Given the description of an element on the screen output the (x, y) to click on. 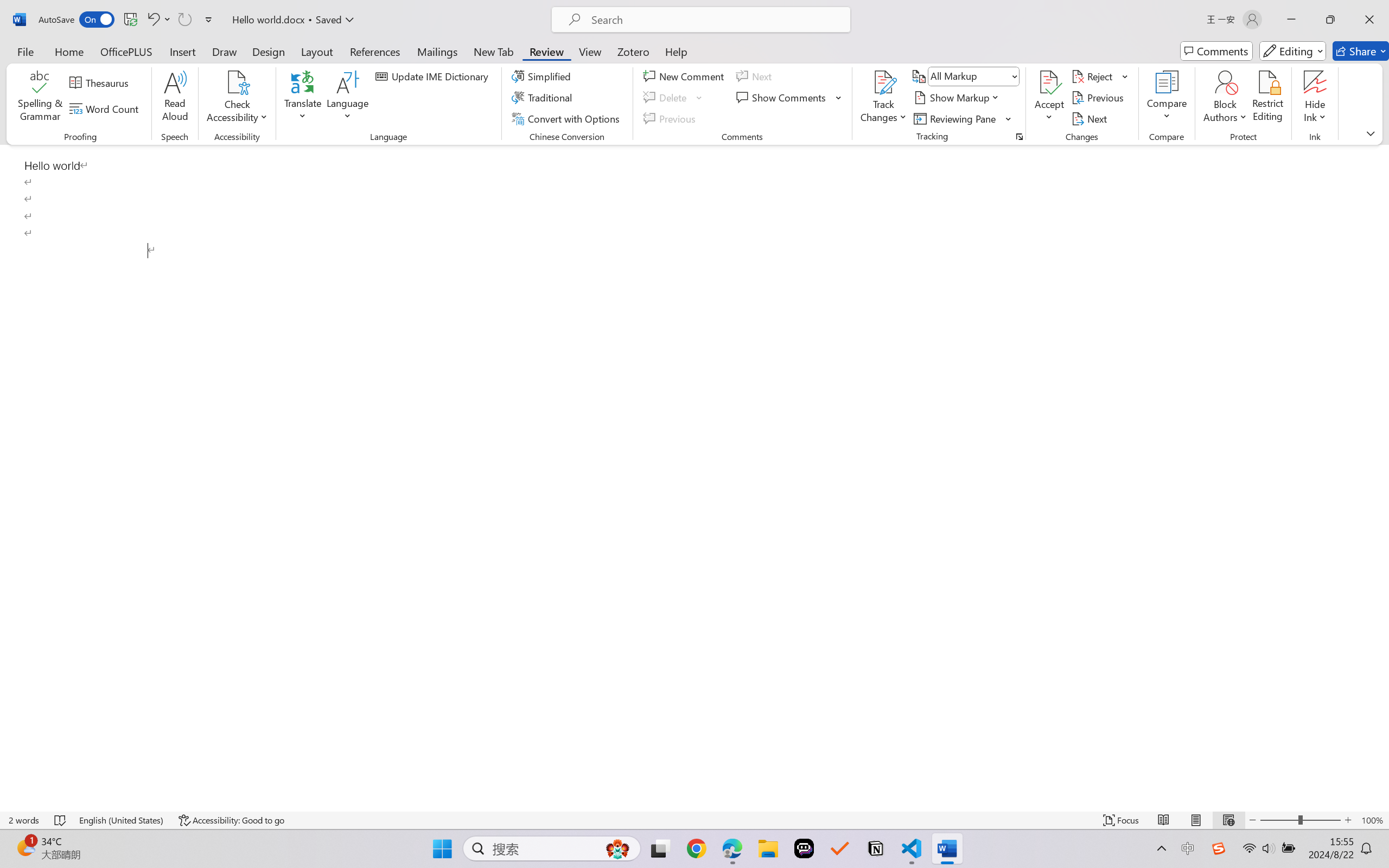
Traditional (543, 97)
Change Tracking Options... (1019, 136)
Check Accessibility (237, 97)
More Options (1315, 112)
Zotero (632, 51)
Quick Access Toolbar (127, 19)
Delete (673, 97)
Block Authors (1224, 97)
Thesaurus... (101, 82)
Zoom 100% (1372, 819)
Print Layout (1196, 819)
Track Changes (883, 97)
Previous (1099, 97)
